Given the description of an element on the screen output the (x, y) to click on. 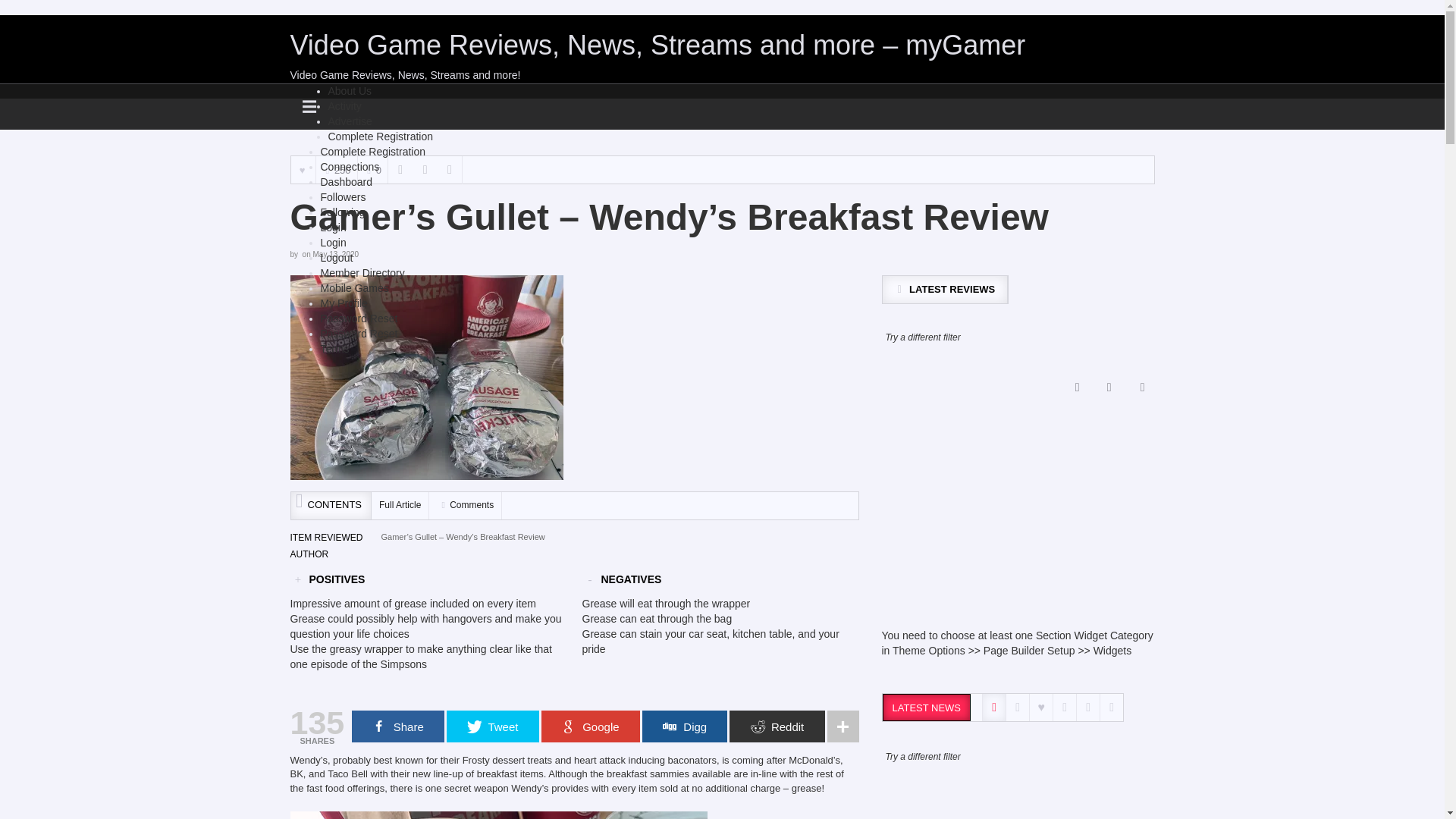
Followers (342, 196)
Connections (349, 166)
Complete Registration (379, 136)
0 (372, 169)
Password Reset (358, 318)
Terms (334, 348)
Login (333, 227)
Logout (336, 257)
Activity (344, 105)
Mobile Games (354, 287)
